Given the description of an element on the screen output the (x, y) to click on. 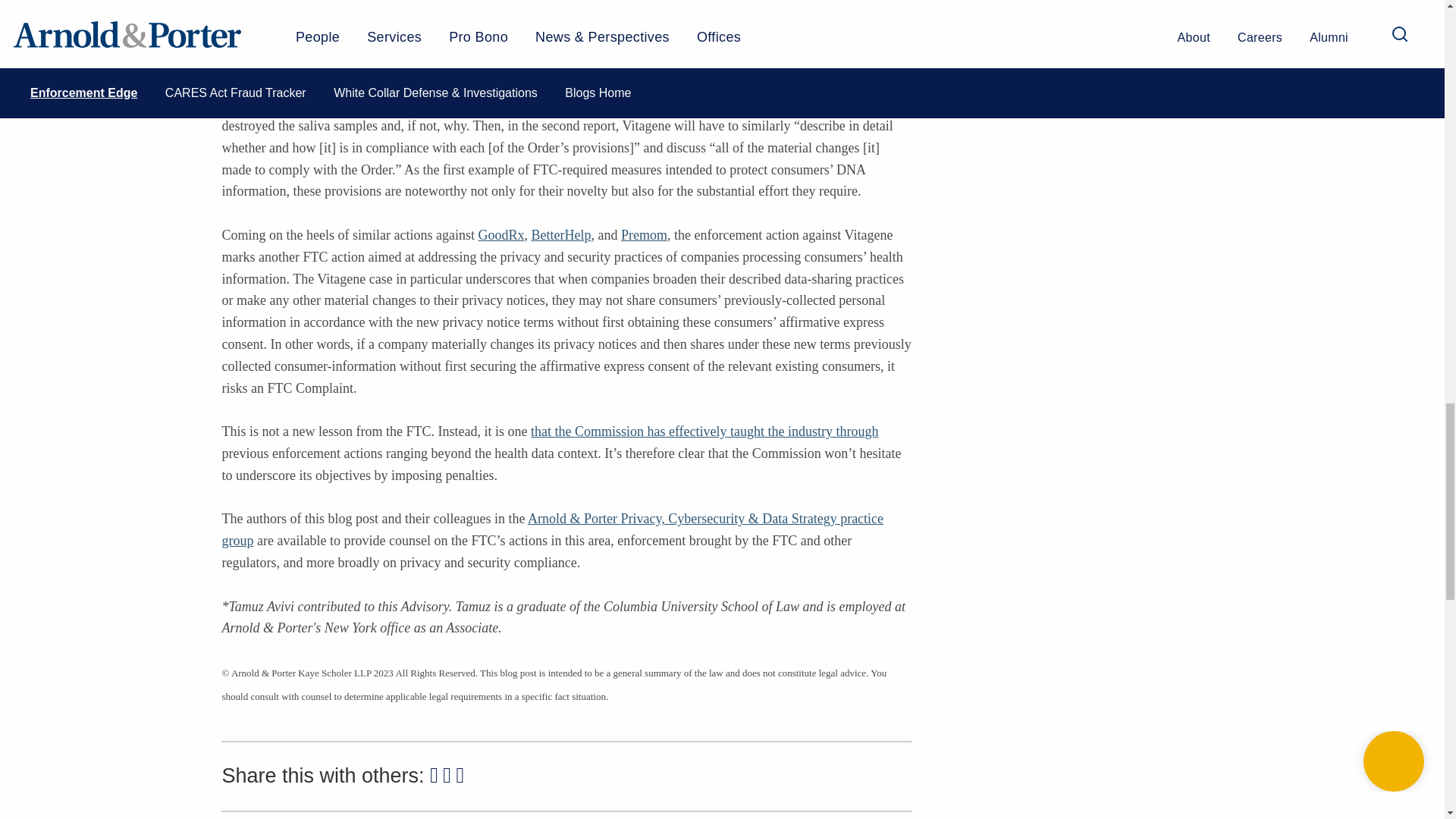
Premom (643, 234)
BetterHelp (561, 234)
GoodRx (500, 234)
